Given the description of an element on the screen output the (x, y) to click on. 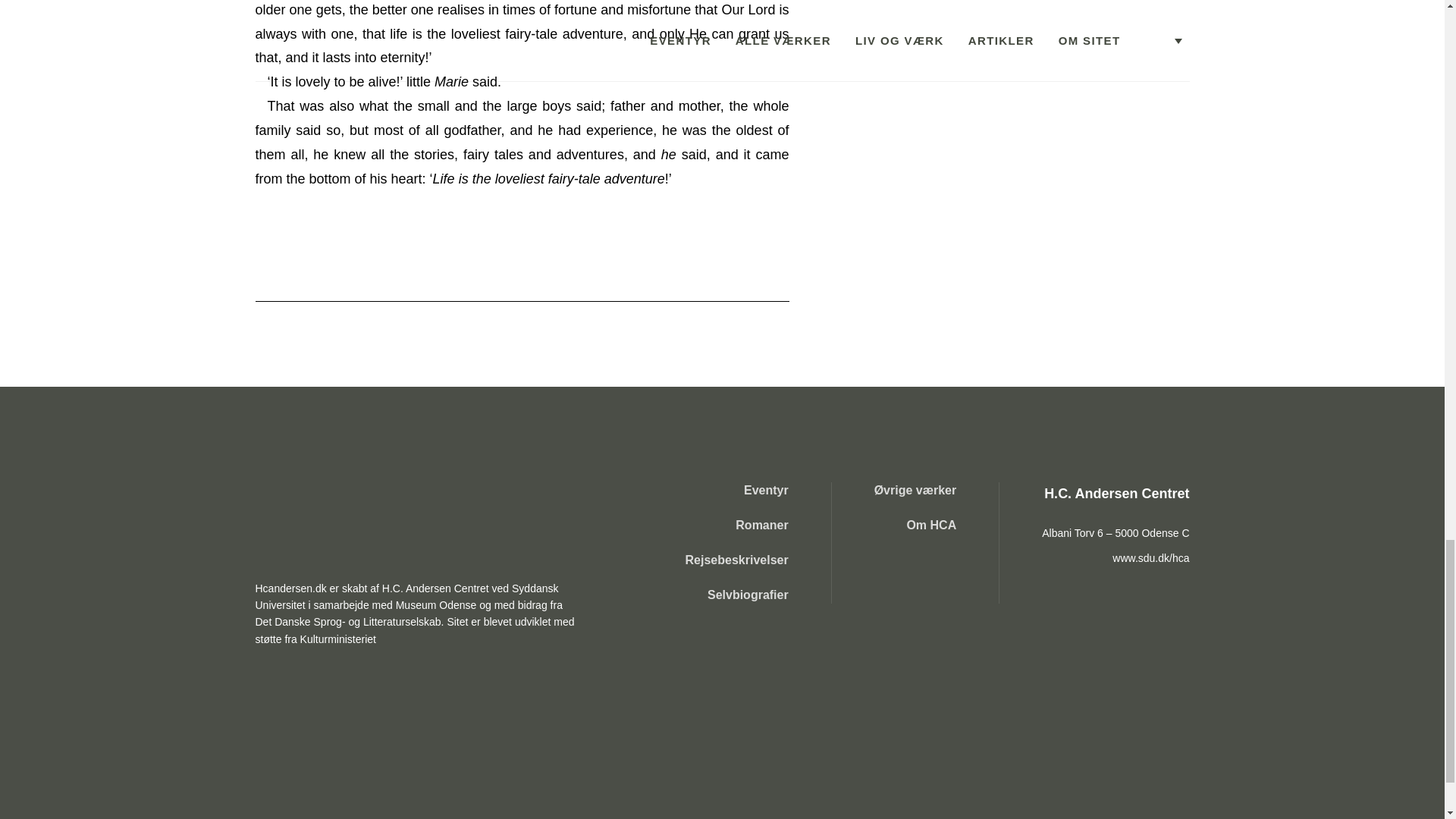
Selvbiografier (737, 595)
Rejsebeskrivelser (737, 560)
Om HCA (915, 524)
Romaner (737, 524)
Eventyr (737, 490)
